Given the description of an element on the screen output the (x, y) to click on. 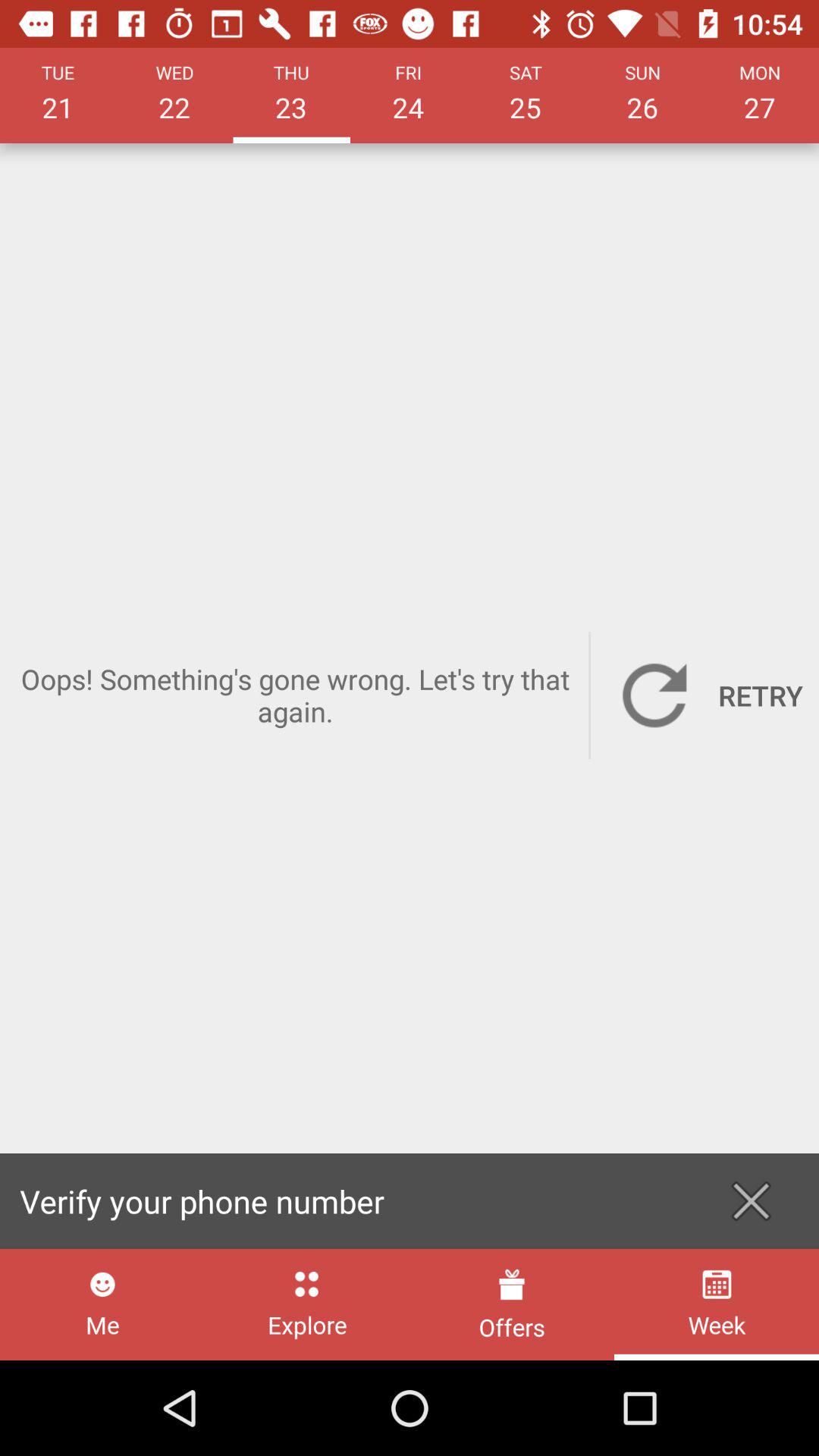
choose explore icon (306, 1304)
